Given the description of an element on the screen output the (x, y) to click on. 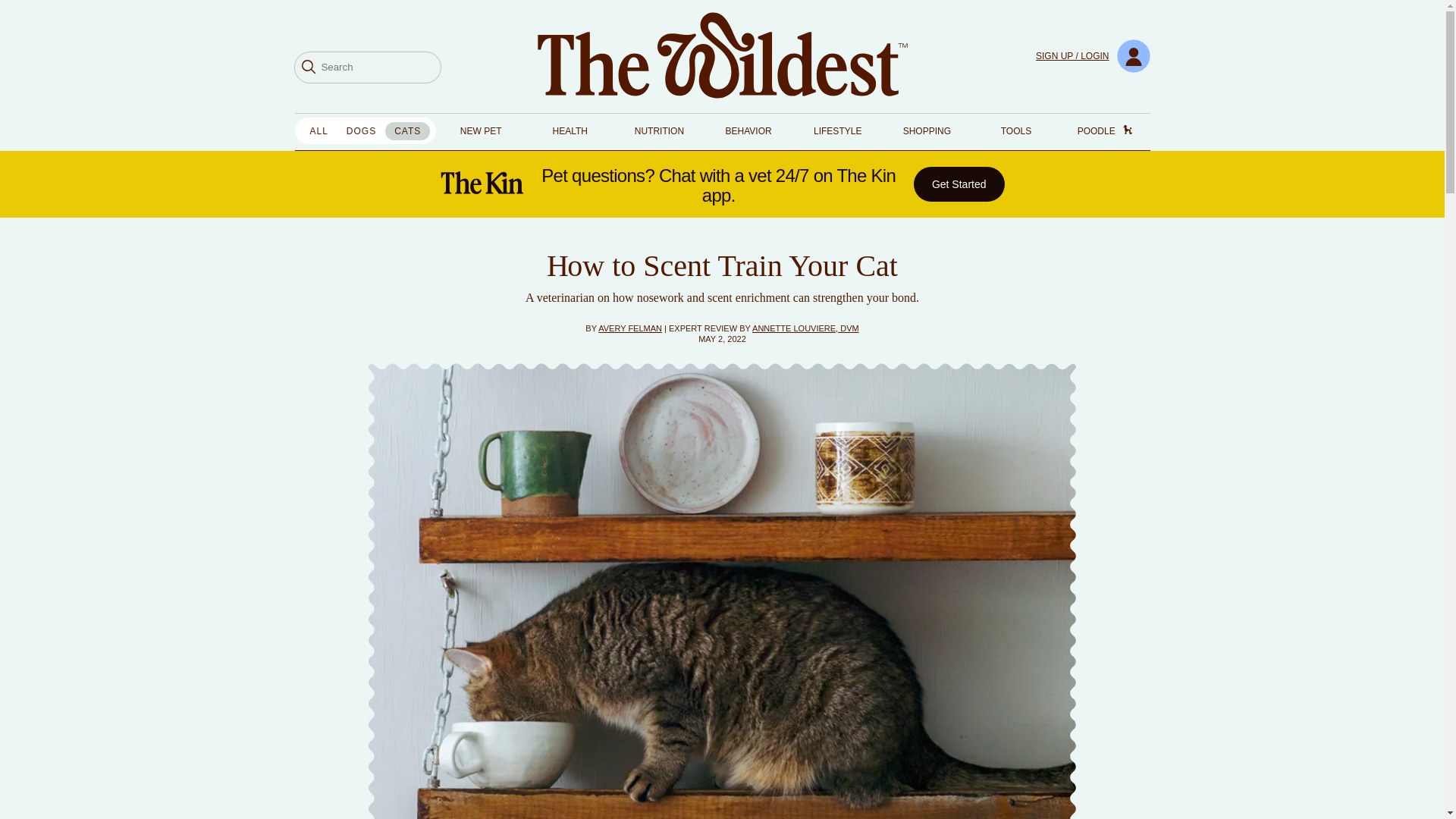
BEHAVIOR (748, 130)
NEW PET (480, 130)
Search icon (307, 66)
CATS (407, 131)
The Wildest Profile Icon (1133, 55)
NUTRITION (659, 130)
ALL (317, 130)
The Wildest home (722, 56)
Skip to main content (5, 6)
Search icon (307, 67)
DOGS (361, 130)
POODLE (1127, 128)
HEALTH (569, 130)
The Wildest Profile Icon (1133, 56)
LIFESTYLE (837, 130)
